Given the description of an element on the screen output the (x, y) to click on. 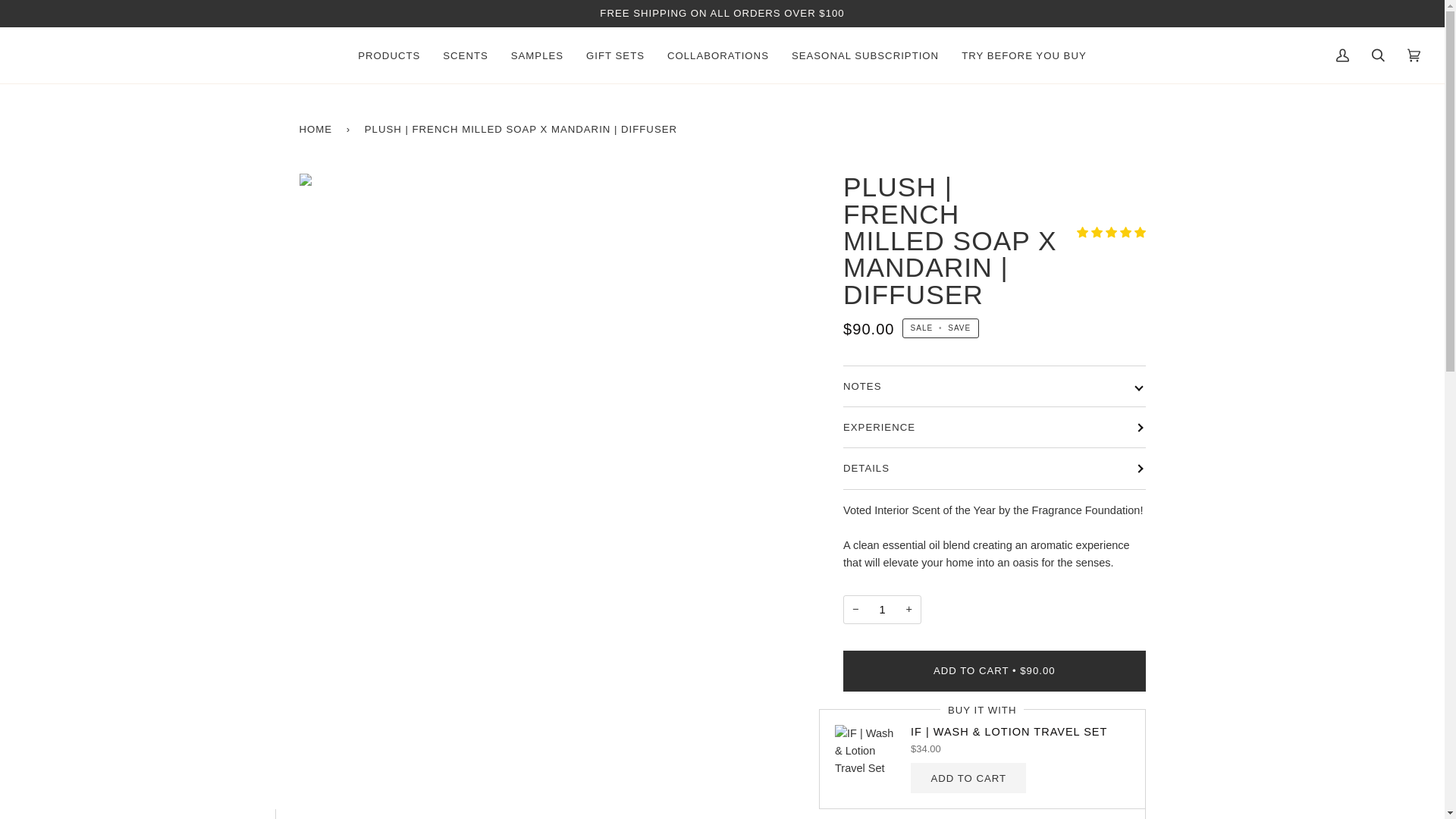
SCENTS (464, 55)
Back to the frontpage (317, 128)
PRODUCTS (388, 55)
SAMPLES (537, 55)
1 (882, 609)
